Given the description of an element on the screen output the (x, y) to click on. 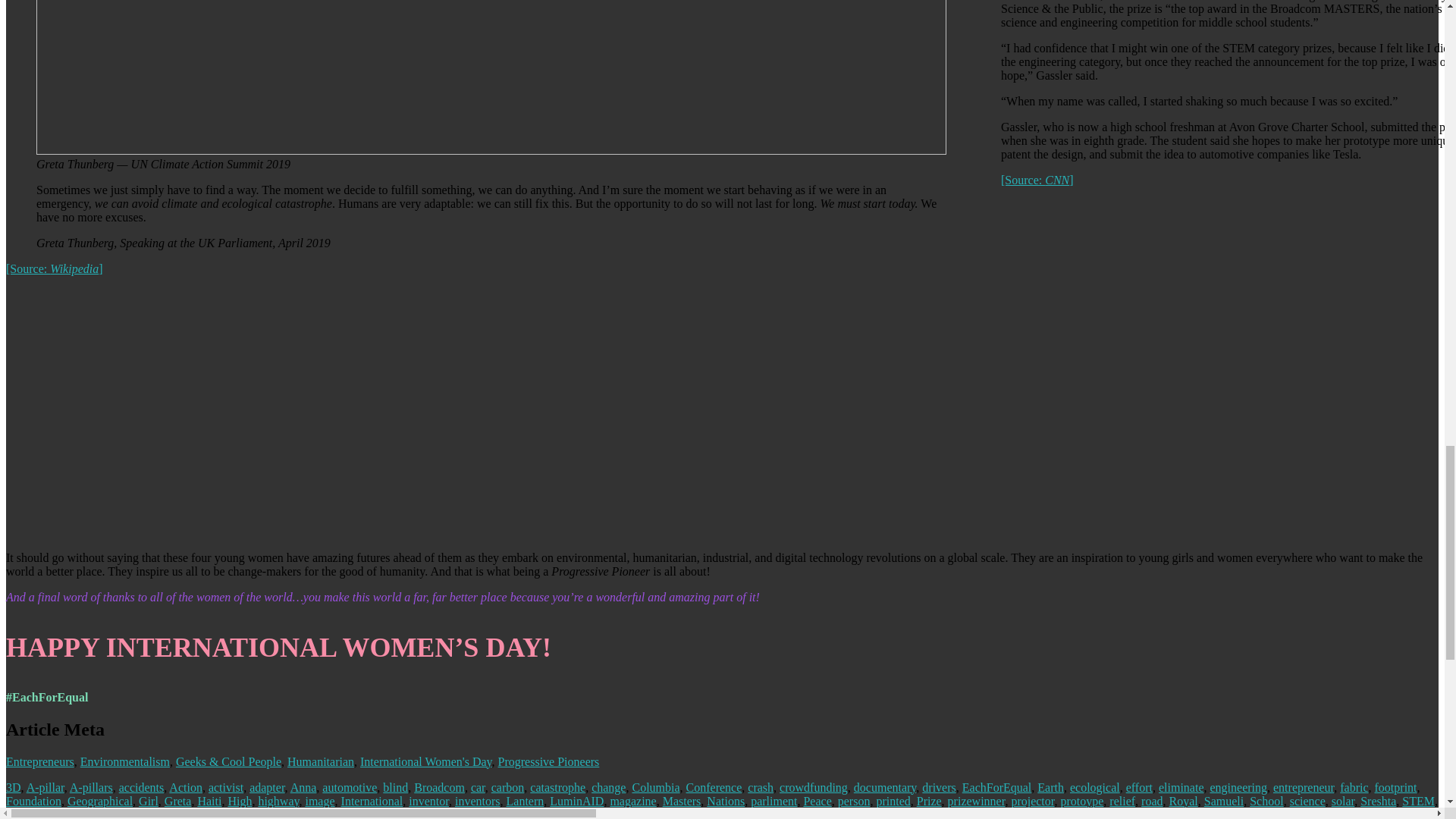
ScienceFairBlindSpotMovie2019 (1243, 318)
